Given the description of an element on the screen output the (x, y) to click on. 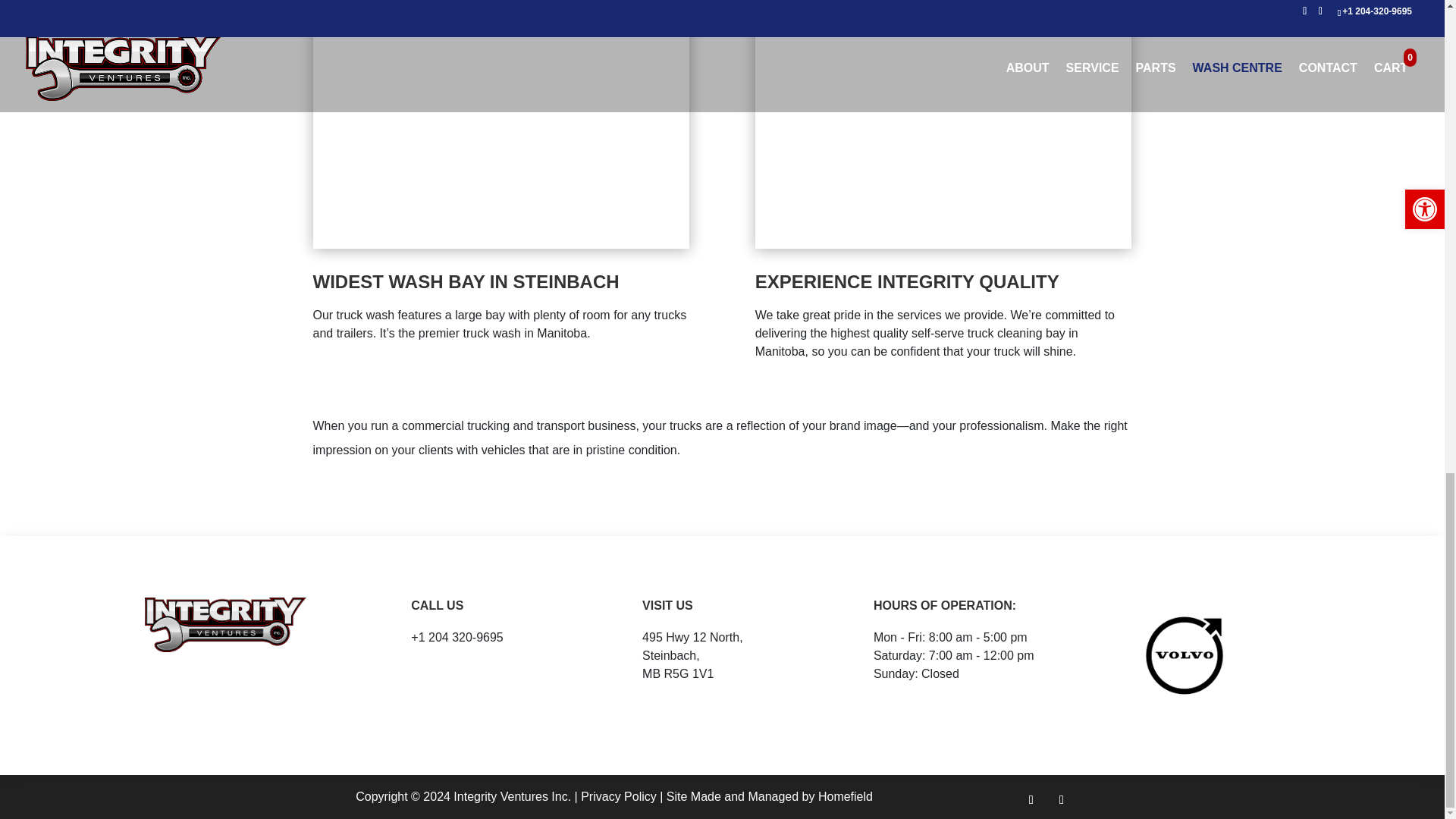
CALL US (436, 604)
Follow on Facebook (1031, 799)
Privacy Policy (618, 796)
Follow on X (1061, 799)
Homefield (845, 796)
Volvo-Iron-Mark-Black (1183, 654)
